Given the description of an element on the screen output the (x, y) to click on. 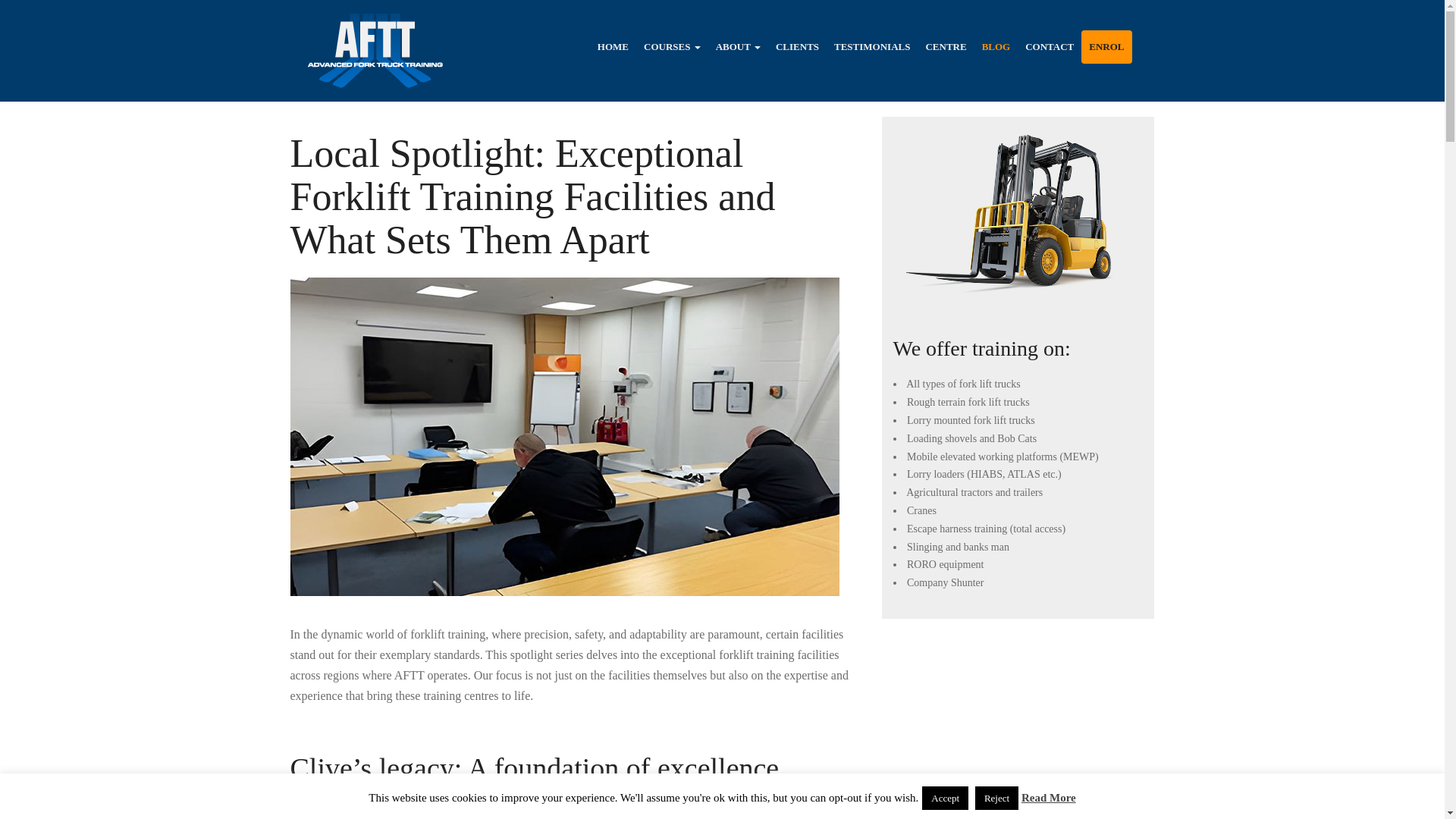
ABOUT (737, 46)
TESTIMONIALS (872, 46)
BLOG (995, 46)
Courses (671, 46)
CENTRE (945, 46)
Home (612, 46)
ENROL (1106, 46)
CONTACT (1049, 46)
HOME (612, 46)
CLIENTS (797, 46)
